Given the description of an element on the screen output the (x, y) to click on. 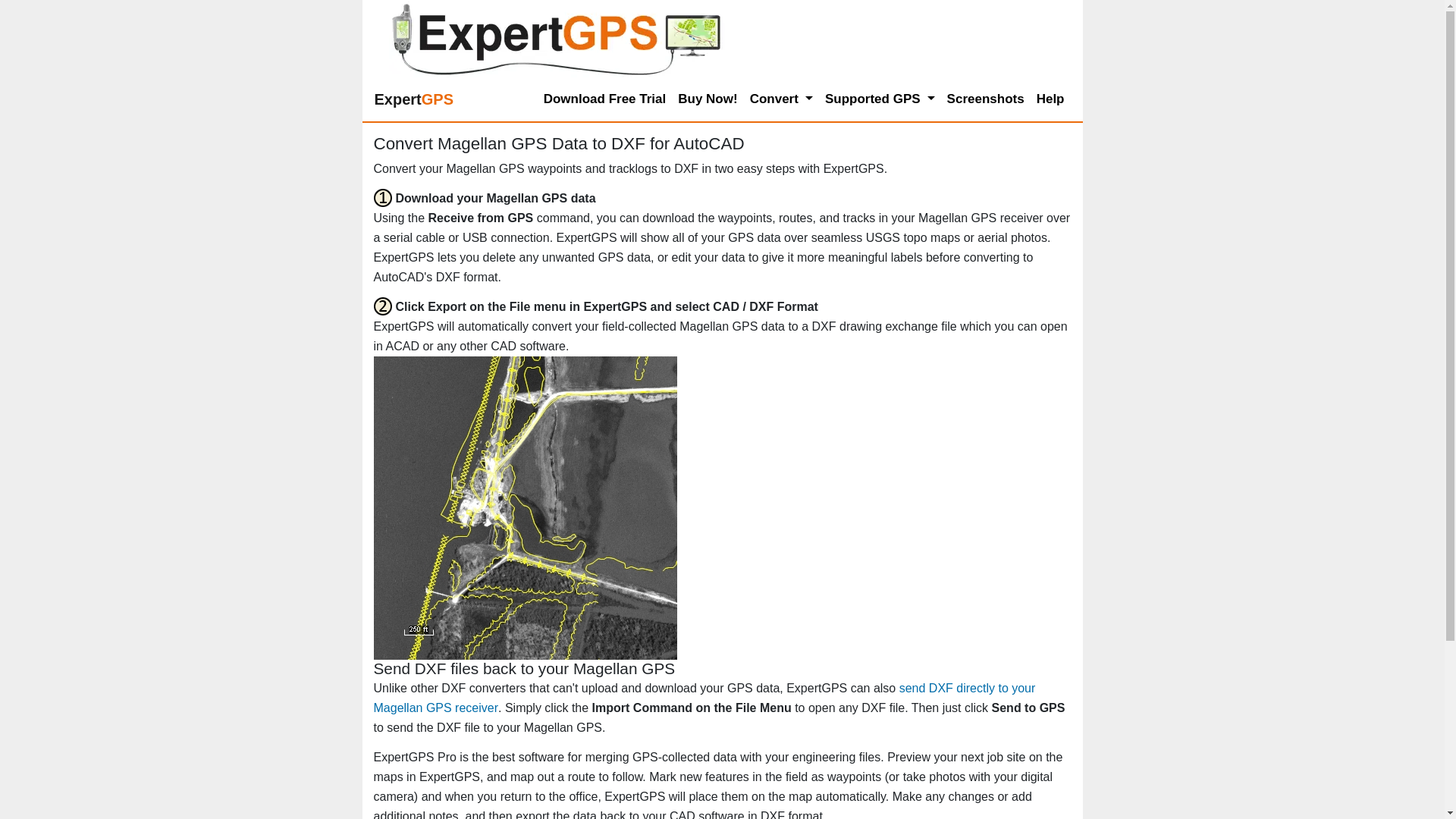
Download Free Trial (604, 99)
ExpertGPS (414, 99)
Download a fully-featured demo of ExpertGPS (604, 99)
ExpertGPS Map Software Home Page (414, 99)
Step 2 (381, 306)
Step 1 (381, 198)
